Given the description of an element on the screen output the (x, y) to click on. 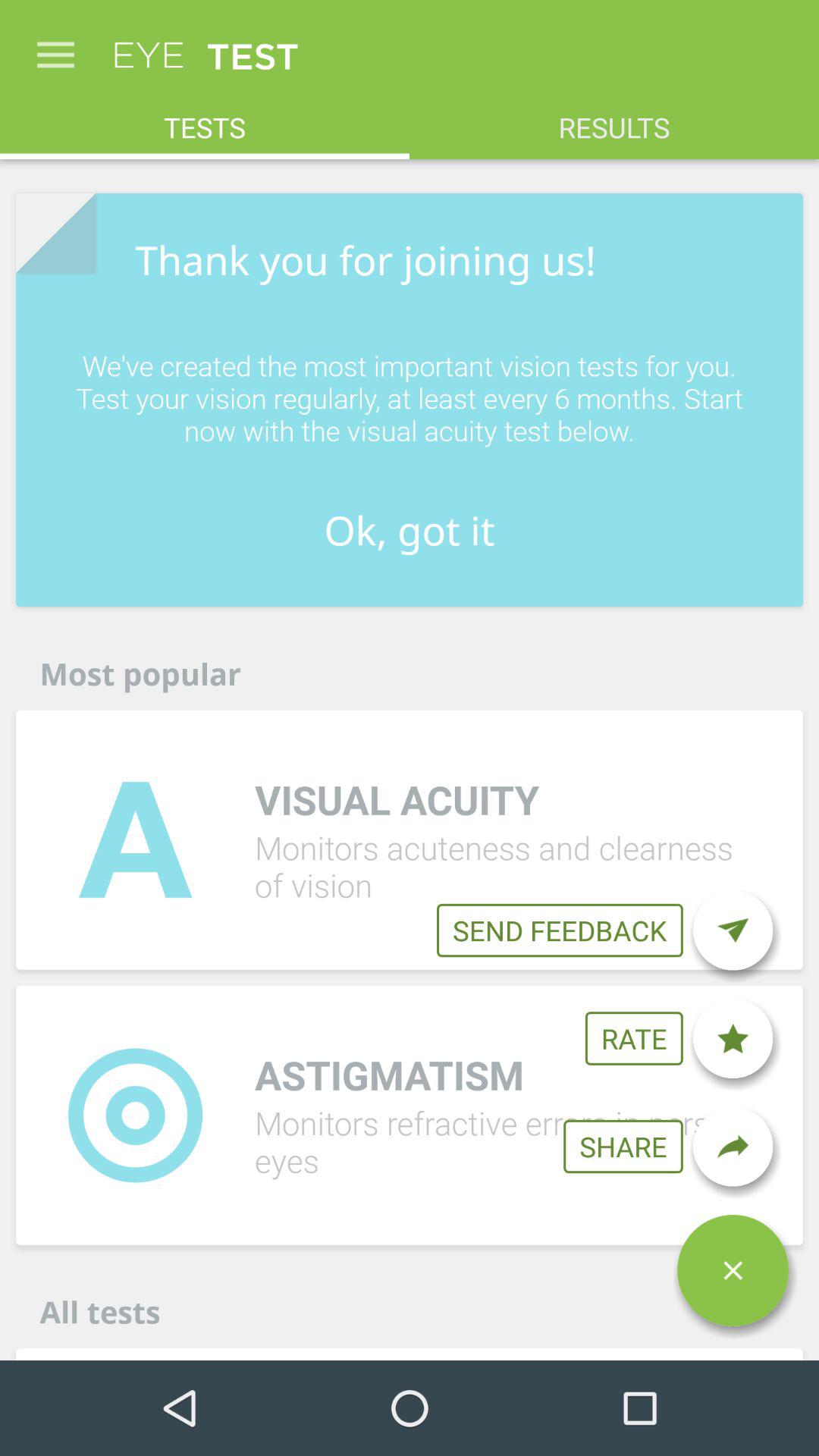
swipe until ok, got it item (409, 529)
